Given the description of an element on the screen output the (x, y) to click on. 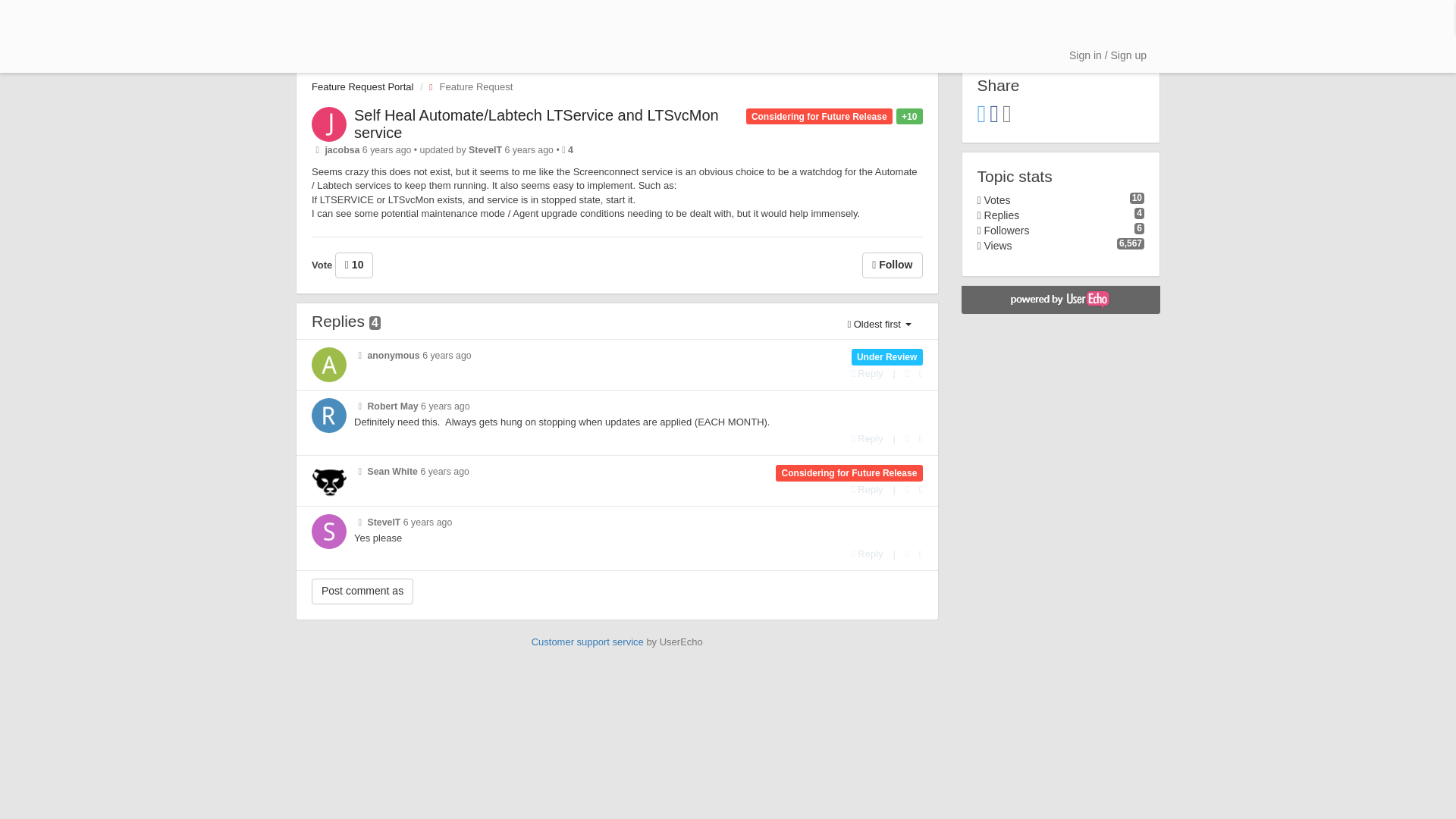
10 (354, 265)
anonymous (392, 355)
Reply (867, 489)
Robert May (391, 406)
Reply (867, 438)
Oldest first (878, 324)
6 years ago (445, 406)
SteveIT (485, 149)
Post comment as (362, 591)
jacobsa (341, 149)
4 (570, 149)
Feature Request (467, 86)
6 years ago (444, 471)
Sean White (391, 471)
Follow (891, 265)
